Given the description of an element on the screen output the (x, y) to click on. 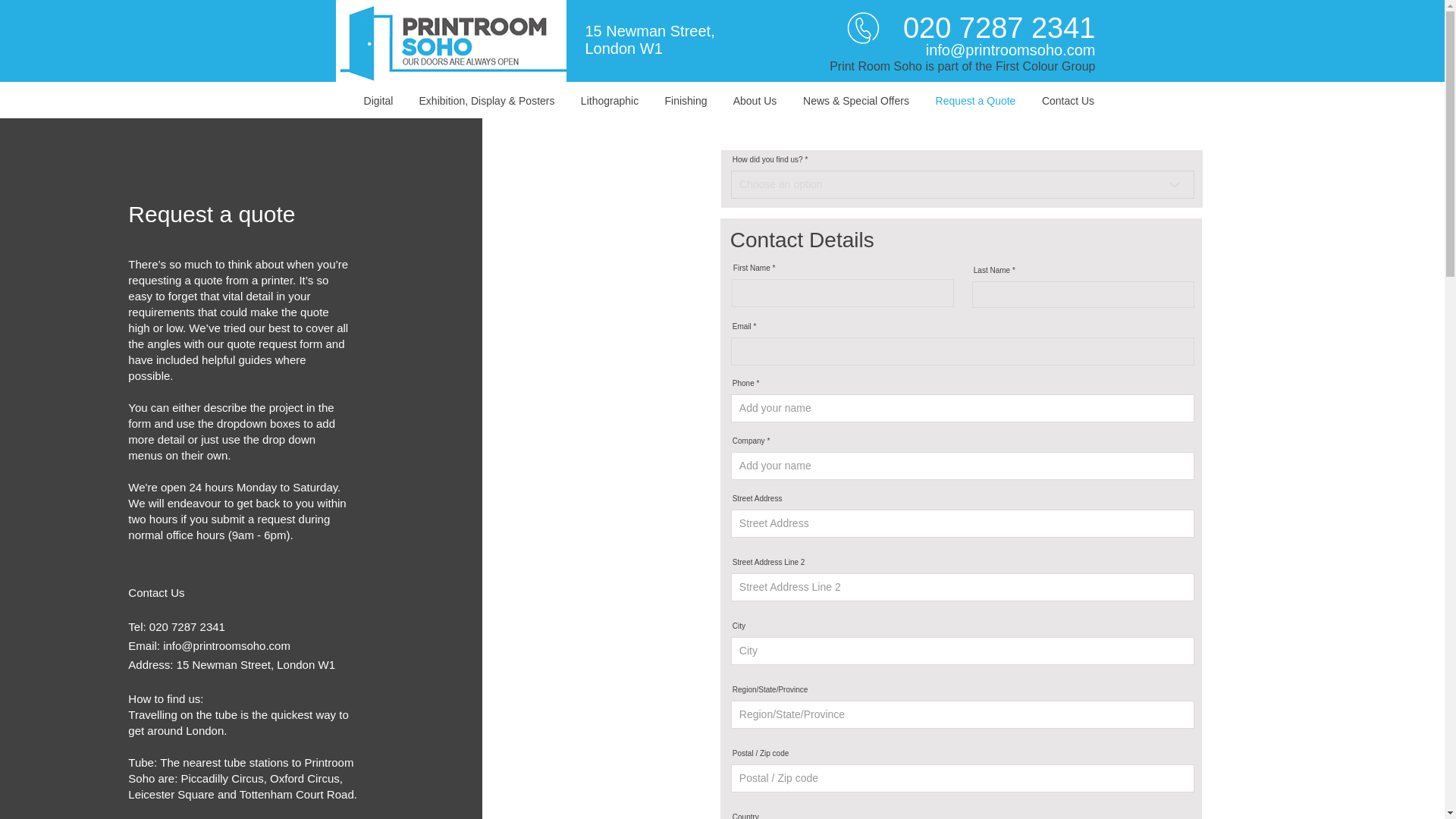
Print Room Soho is part of the First Colour Group (961, 65)
Lithographic (609, 100)
Finishing (685, 100)
Digital (378, 100)
Contact Us (1066, 100)
Request a Quote (975, 100)
About Us (754, 100)
